Given the description of an element on the screen output the (x, y) to click on. 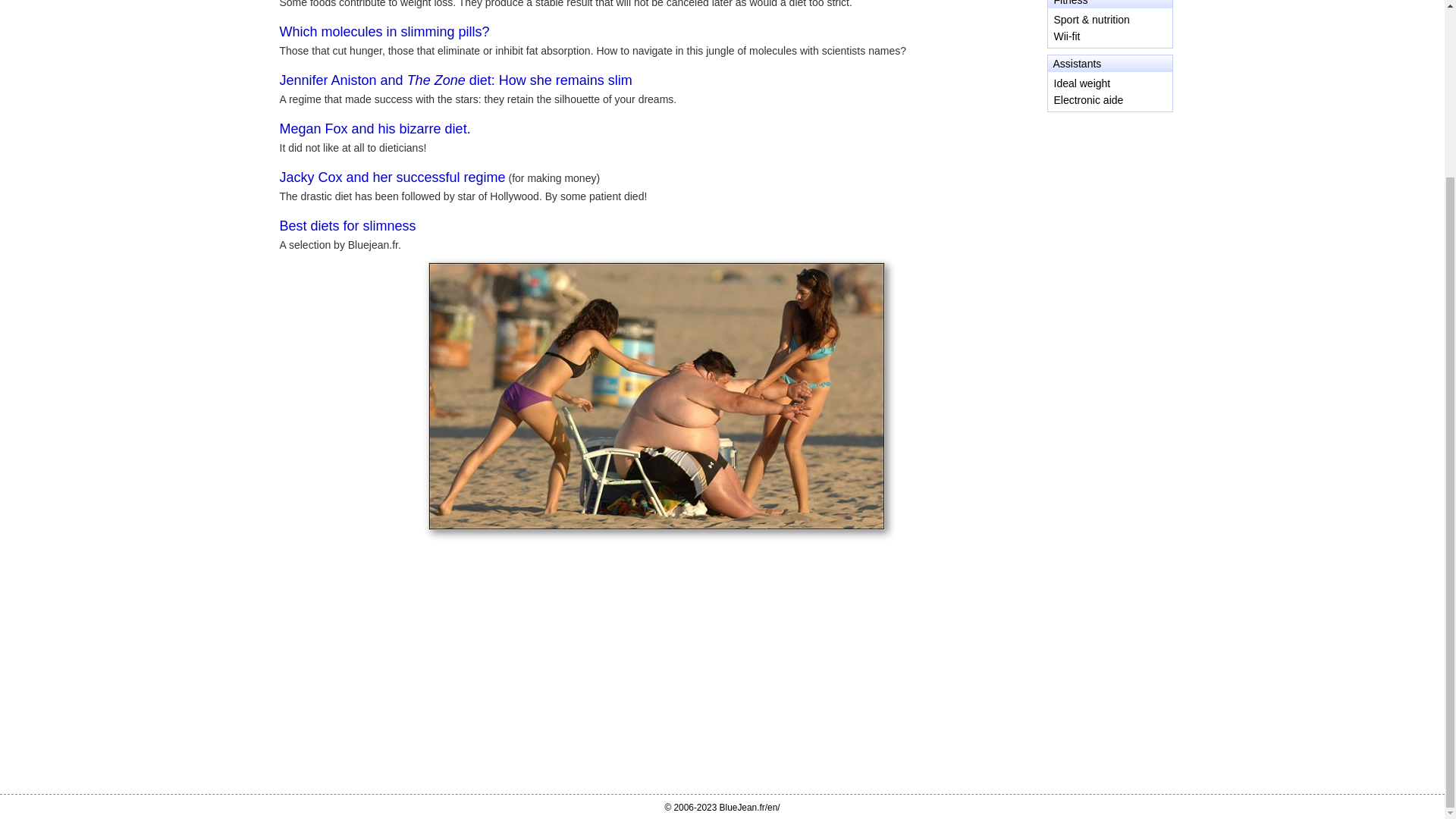
Wii-fit (1067, 36)
Jennifer Aniston and The Zone diet: How she remains slim (455, 79)
Megan Fox and his bizarre diet. (374, 128)
Advertisement (1108, 179)
Electronic aide (1089, 100)
Ideal weight (1082, 82)
Fitness (1070, 2)
Which molecules in slimming pills? (384, 31)
Jacky Cox and her successful regime (392, 177)
